Given the description of an element on the screen output the (x, y) to click on. 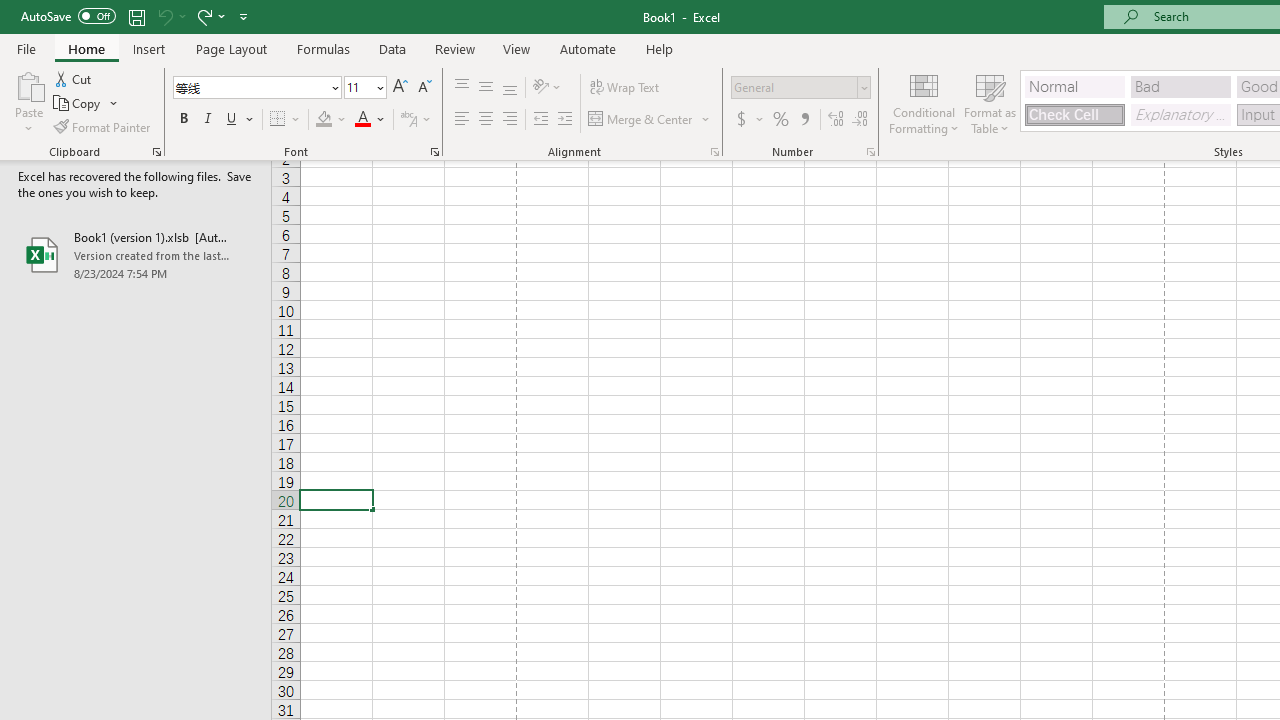
Automate (588, 48)
Formulas (323, 48)
Book1 (version 1).xlsb  [AutoRecovered] (136, 254)
Undo (170, 15)
Help (660, 48)
System (10, 11)
Quick Access Toolbar (136, 16)
Page Layout (230, 48)
Insert (149, 48)
More Options (222, 15)
File Tab (26, 48)
System (10, 11)
Redo (203, 15)
Review (454, 48)
